Given the description of an element on the screen output the (x, y) to click on. 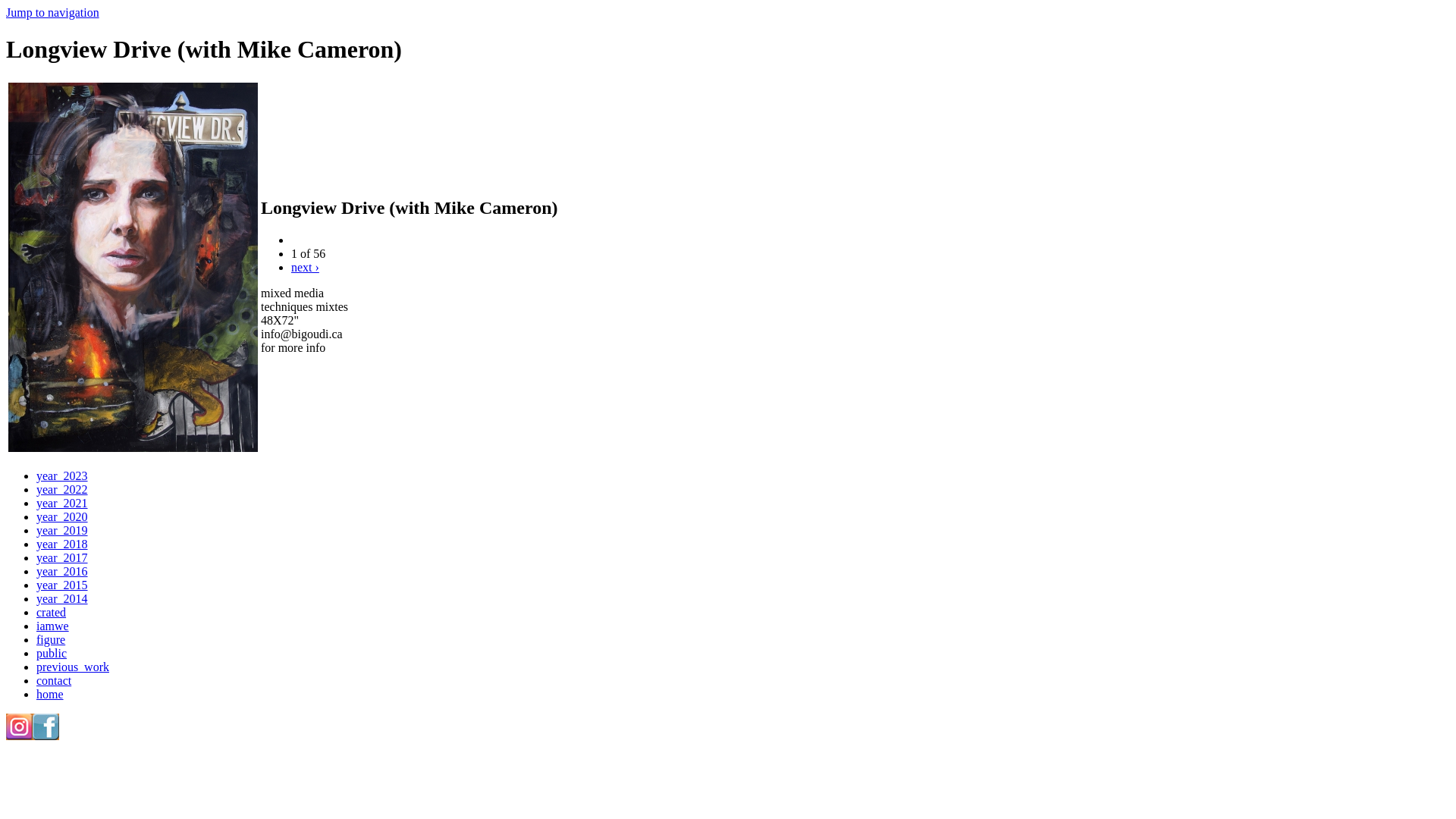
home Element type: text (49, 693)
crated Element type: text (50, 611)
previous_work Element type: text (72, 666)
year_2022 Element type: text (61, 489)
year_2017 Element type: text (61, 557)
contact Element type: text (53, 680)
Jump to navigation Element type: text (52, 12)
year_2015 Element type: text (61, 584)
year_2018 Element type: text (61, 543)
year_2021 Element type: text (61, 502)
year_2019 Element type: text (61, 530)
figure Element type: text (50, 639)
year_2016 Element type: text (61, 570)
year_2014 Element type: text (61, 598)
iamwe Element type: text (52, 625)
year_2023 Element type: text (61, 475)
year_2020 Element type: text (61, 516)
public Element type: text (51, 652)
